Given the description of an element on the screen output the (x, y) to click on. 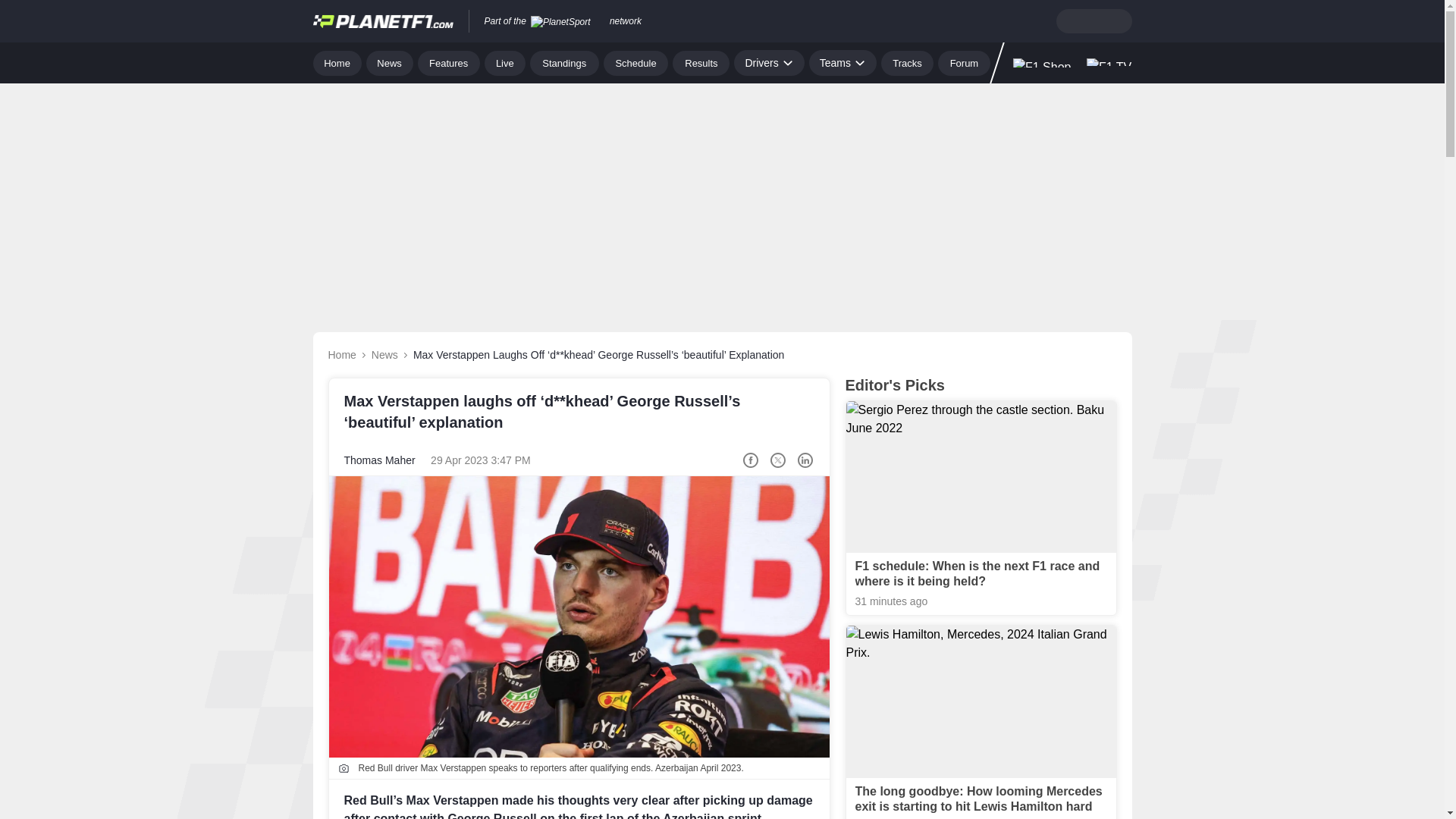
Results (700, 62)
Drivers (768, 62)
Schedule (636, 62)
Live (504, 62)
Features (448, 62)
Home (337, 62)
Teams (842, 62)
News (389, 62)
Standings (563, 62)
